Given the description of an element on the screen output the (x, y) to click on. 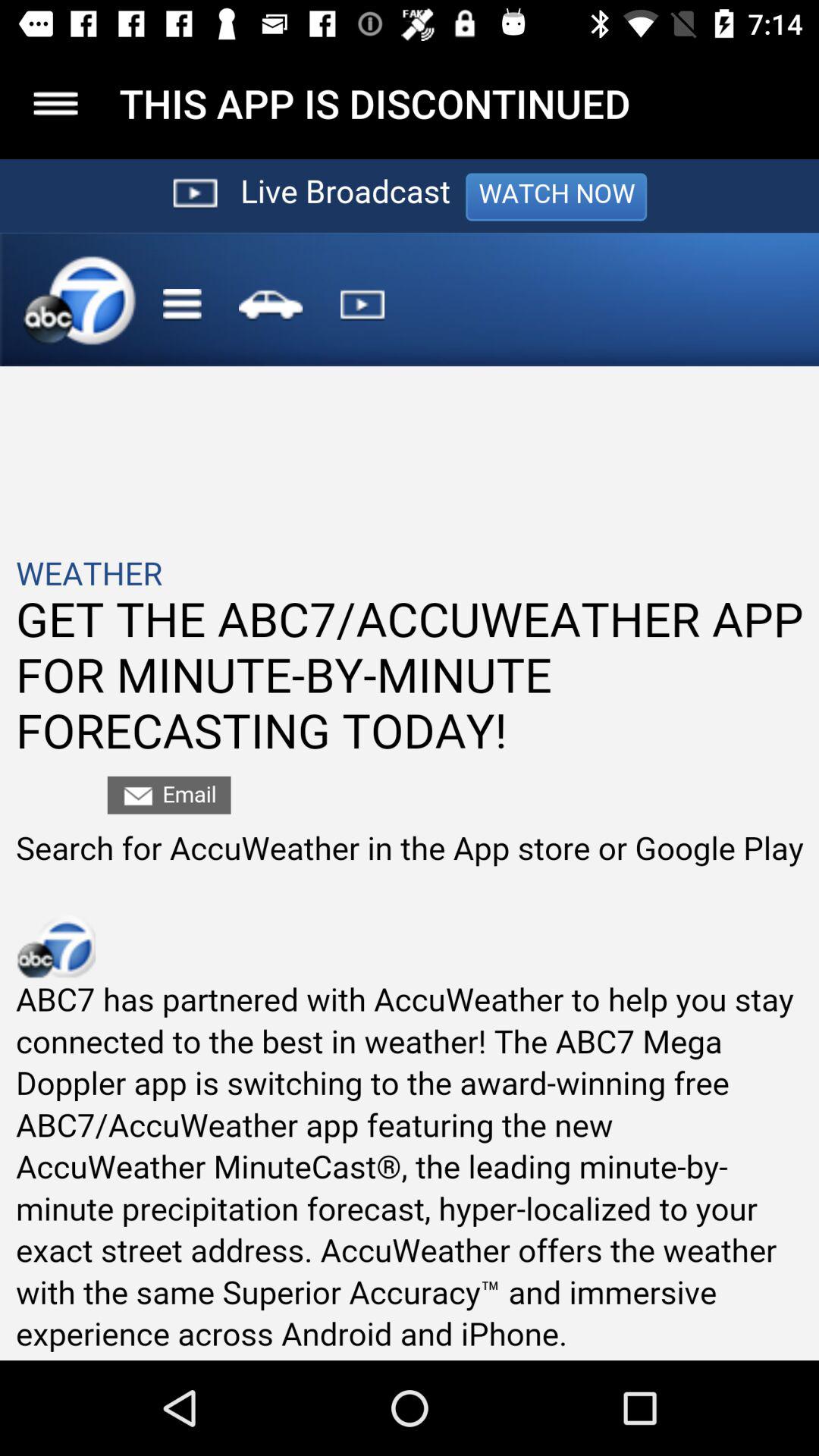
opens main menu (55, 103)
